Given the description of an element on the screen output the (x, y) to click on. 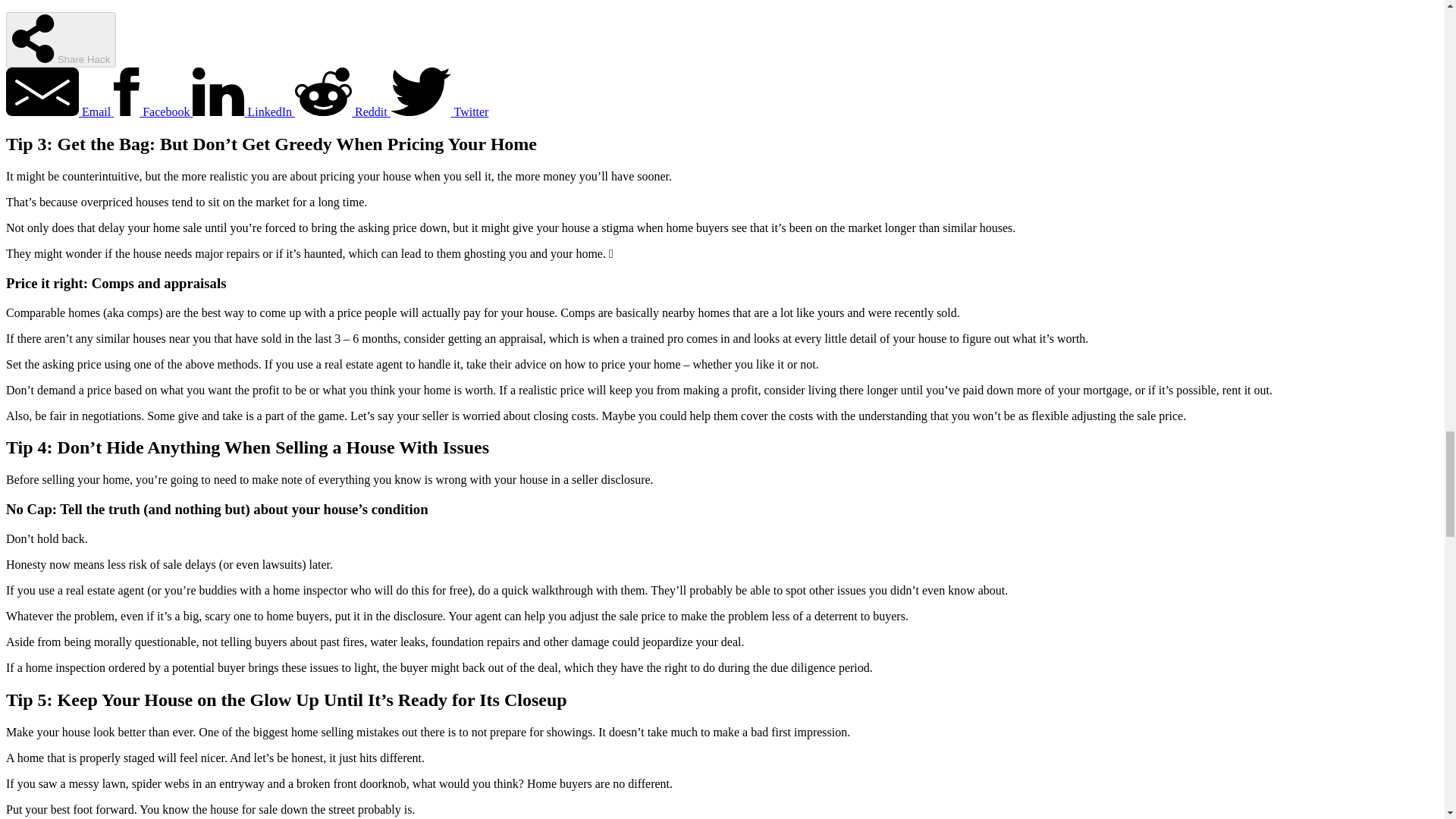
Share on Reddit (342, 111)
Share on Twitter (439, 111)
Share on LinkedIn (243, 111)
Share on Facebook (152, 111)
Share via Email (59, 111)
Toggle Share Menu (60, 39)
